Given the description of an element on the screen output the (x, y) to click on. 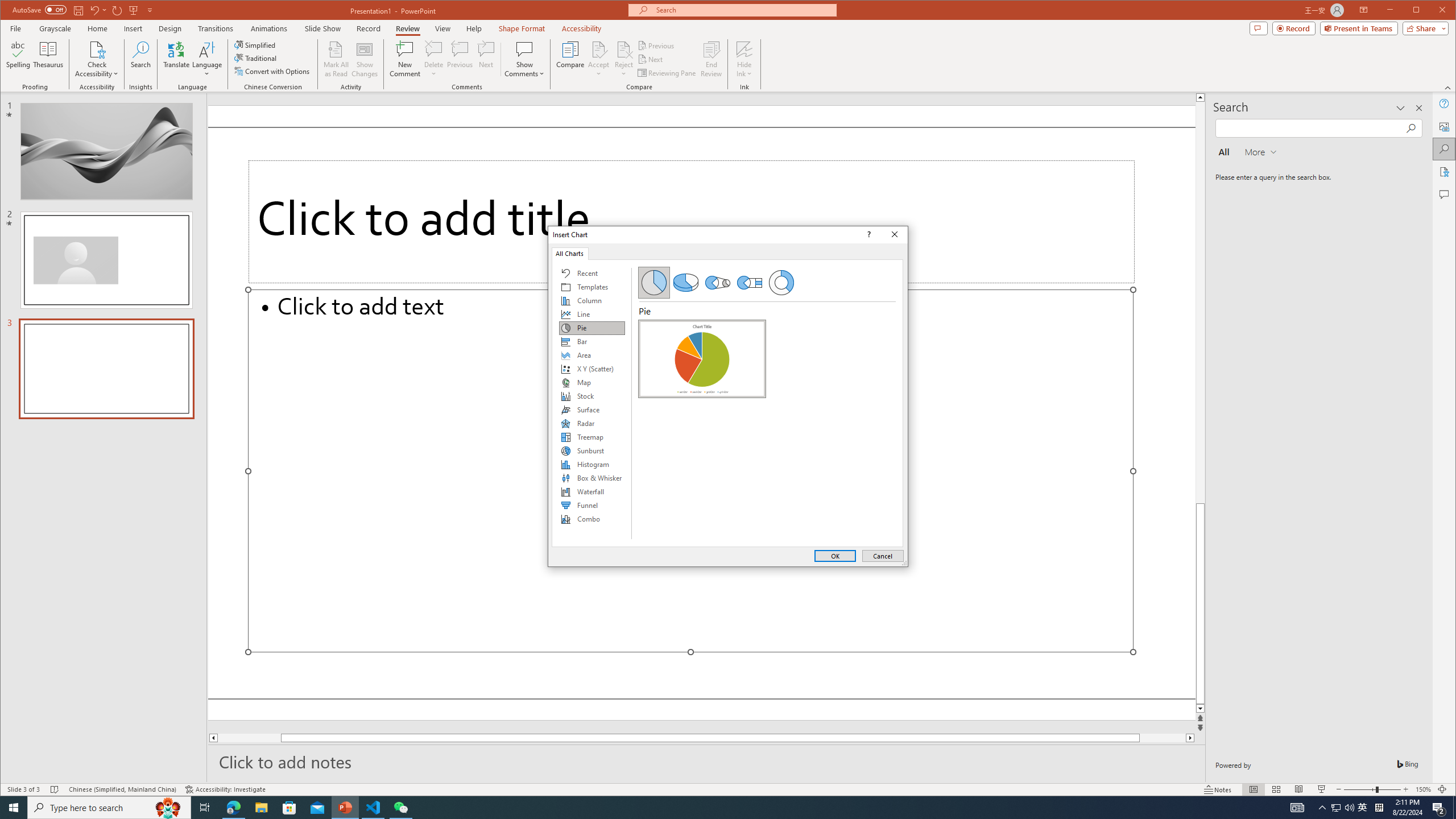
New Comment (405, 59)
Page down (1162, 737)
Show Comments (524, 48)
Combo (591, 518)
Doughnut (781, 282)
Surface (591, 409)
End Review (710, 59)
Notification Chevron (1335, 807)
Zoom 150% (1322, 807)
Task View (1422, 789)
